Given the description of an element on the screen output the (x, y) to click on. 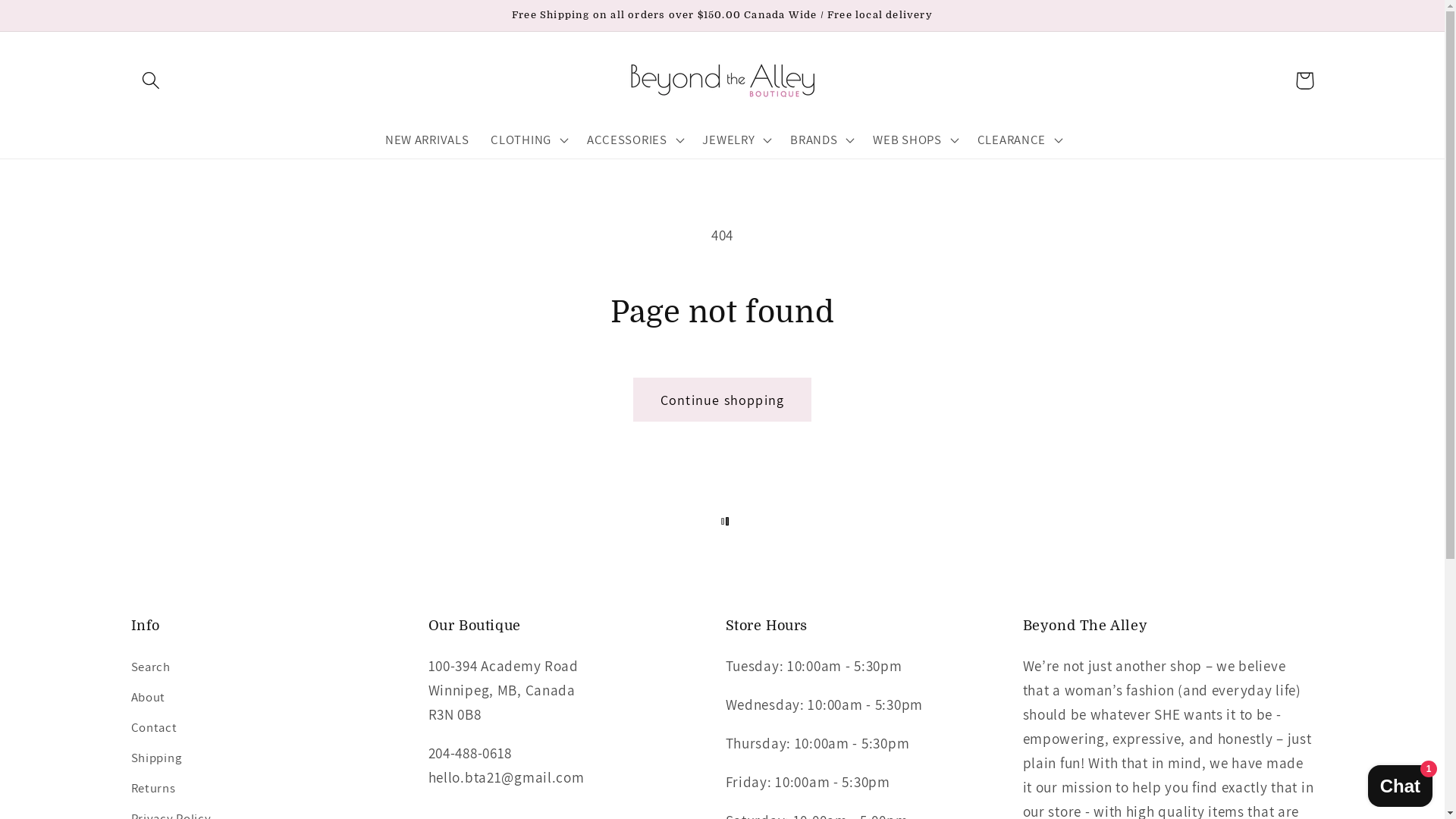
Contact Element type: text (153, 727)
Continue shopping Element type: text (722, 399)
Returns Element type: text (152, 788)
About Element type: text (147, 697)
Cart Element type: text (1304, 80)
Shopify online store chat Element type: hover (1400, 780)
Shipping Element type: text (155, 758)
Search Element type: text (149, 669)
NEW ARRIVALS Element type: text (426, 139)
